Given the description of an element on the screen output the (x, y) to click on. 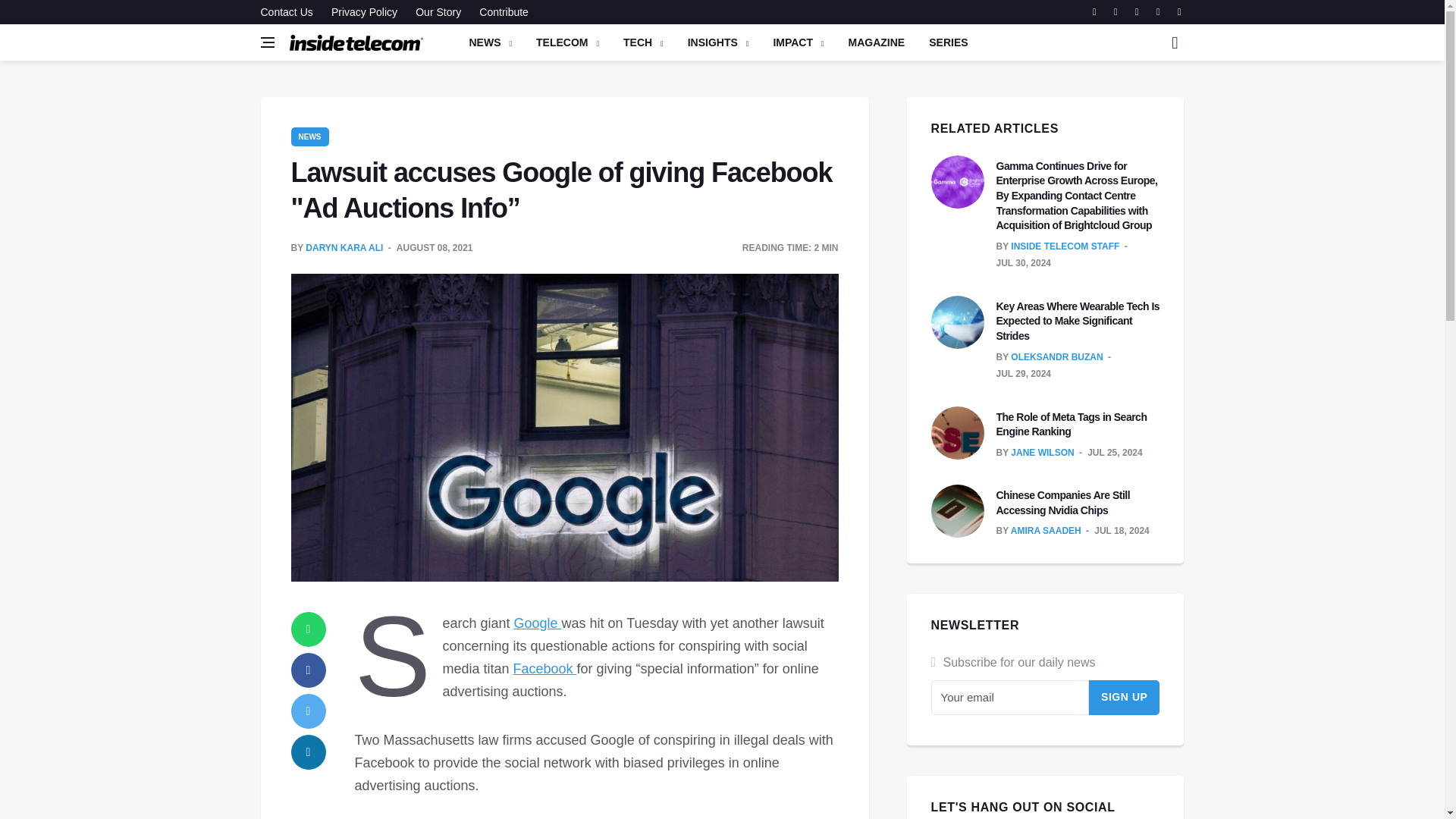
Privacy Policy (363, 12)
Our Story (437, 12)
whatsapp (308, 629)
Contribute (499, 12)
linkedin (308, 751)
facebook (308, 669)
Sign Up (1124, 697)
Contact Us (290, 12)
twitter (308, 710)
